Given the description of an element on the screen output the (x, y) to click on. 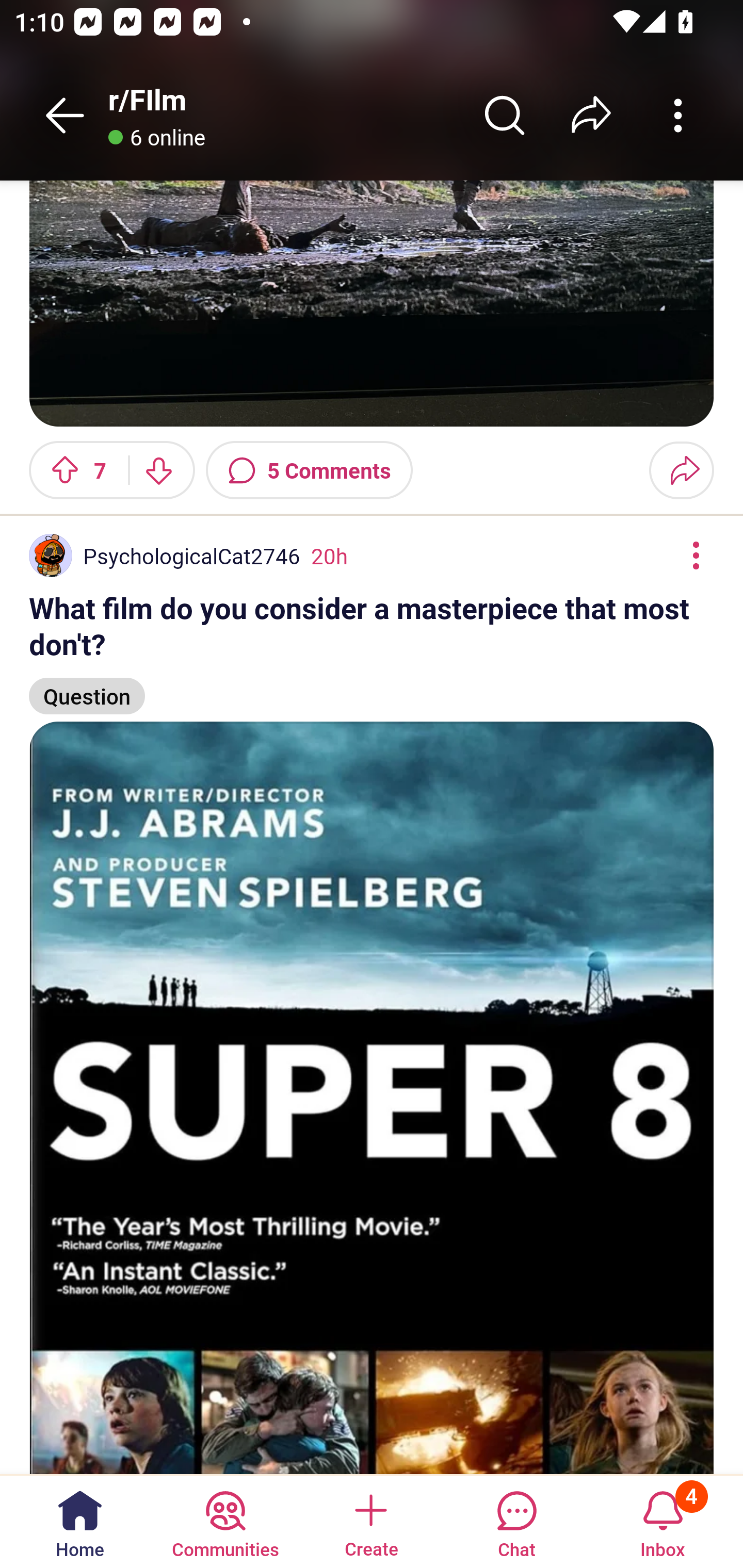
Back (64, 115)
Search r/﻿FIlm (504, 115)
Share r/﻿FIlm (591, 115)
More community actions (677, 115)
Question (86, 686)
Home (80, 1520)
Communities (225, 1520)
Create a post Create (370, 1520)
Chat (516, 1520)
Inbox, has 4 notifications 4 Inbox (662, 1520)
